Given the description of an element on the screen output the (x, y) to click on. 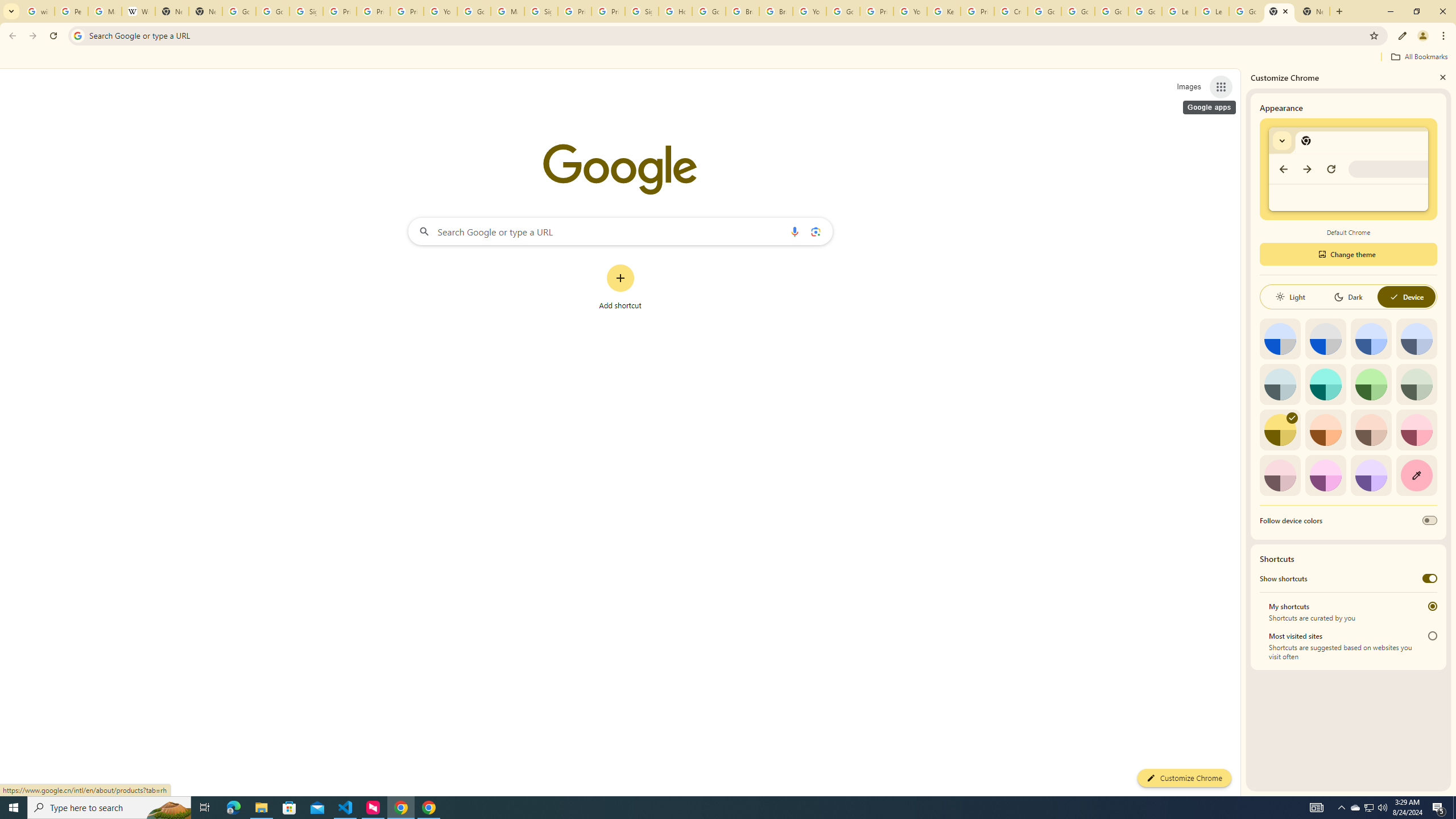
Google Account Help (1043, 11)
YouTube (909, 11)
Google Account Help (1111, 11)
Apricot (1371, 429)
Google Account Help (842, 11)
Google Account Help (1144, 11)
Sign in - Google Accounts (305, 11)
Change theme (1348, 254)
Search by voice (794, 230)
Add shortcut (620, 287)
Side Panel Resize Handle (1242, 431)
